Given the description of an element on the screen output the (x, y) to click on. 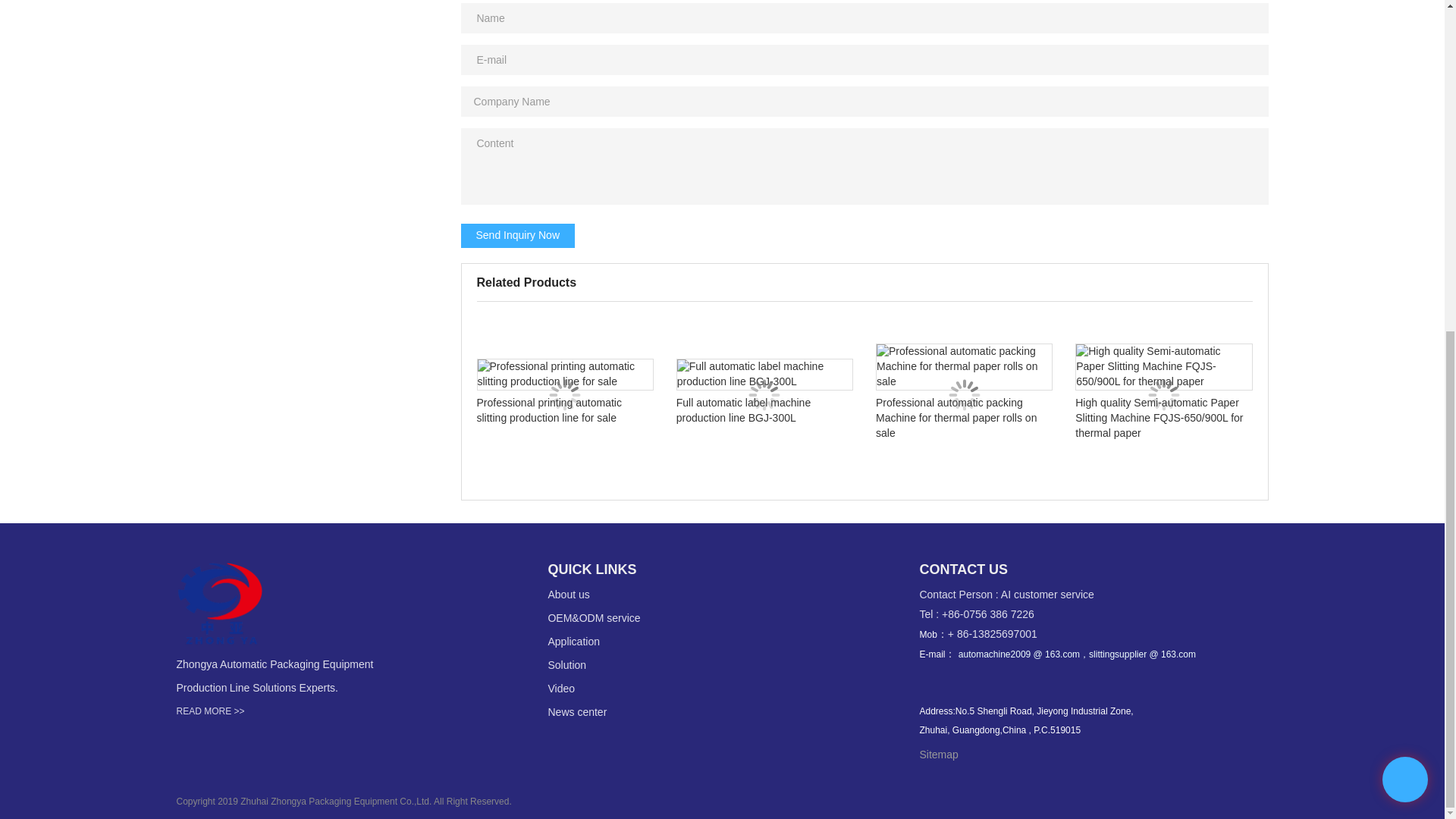
Send Inquiry Now (518, 235)
Full automatic label machine production line BGJ-300L (765, 394)
